Given the description of an element on the screen output the (x, y) to click on. 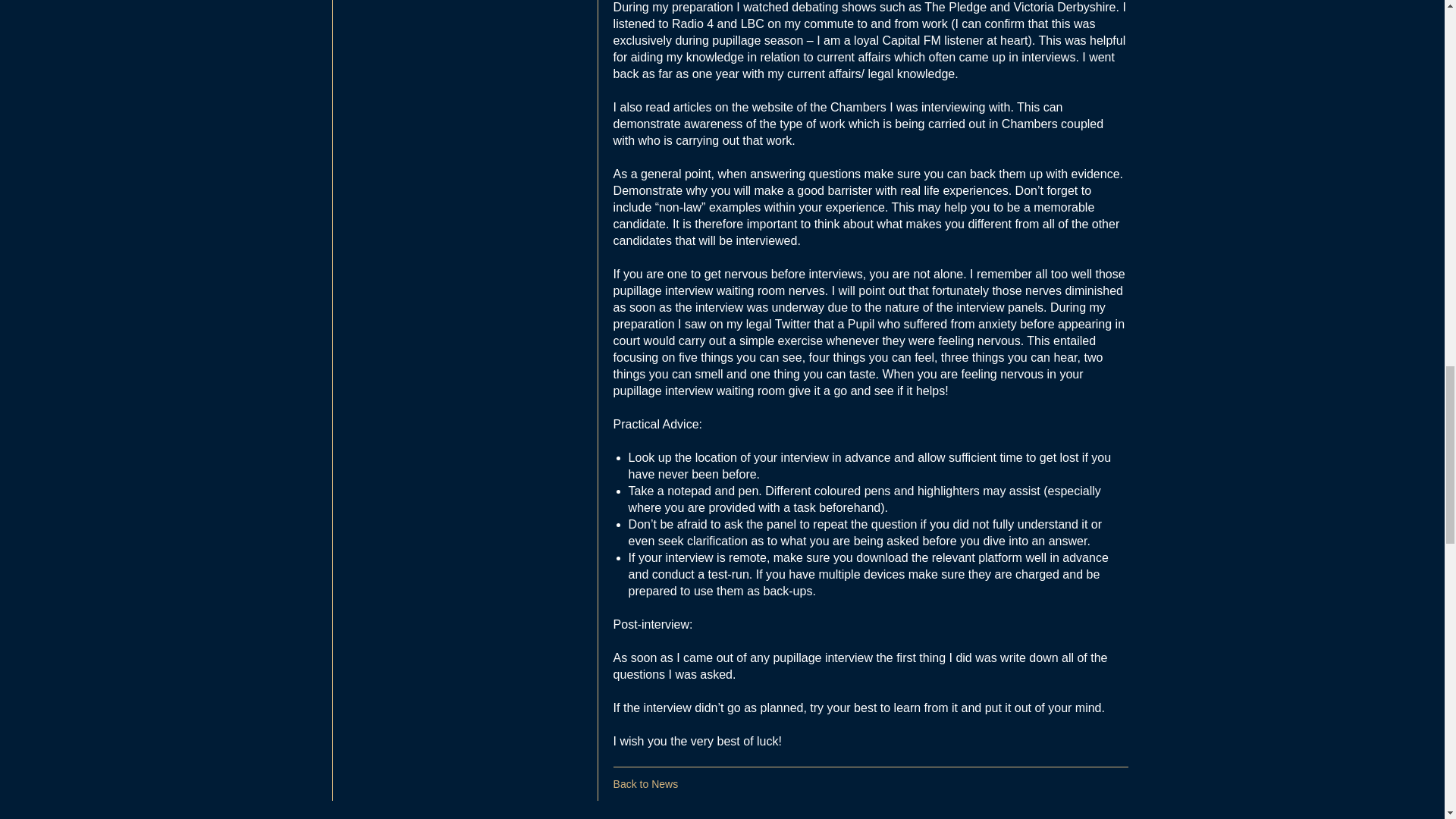
Back to News (645, 784)
